Given the description of an element on the screen output the (x, y) to click on. 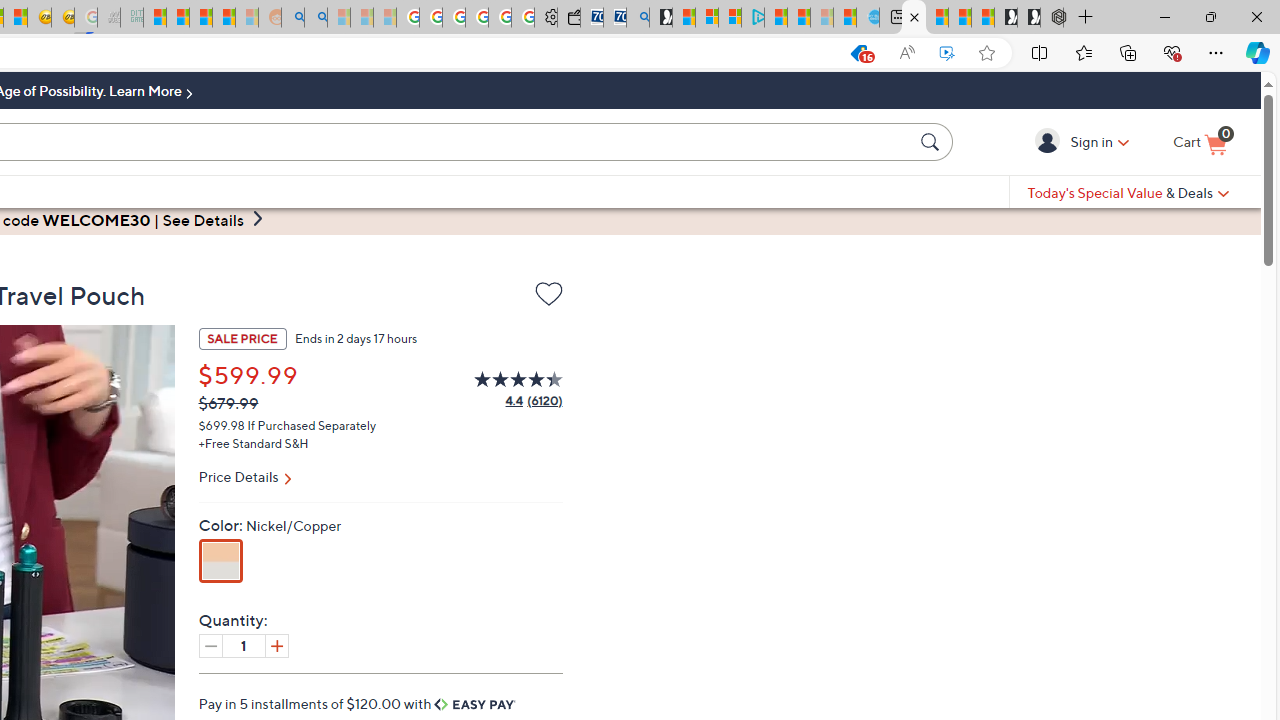
DITOGAMES AG Imprint - Sleeping (132, 17)
Sign in (1049, 141)
Enhance video (946, 53)
